Given the description of an element on the screen output the (x, y) to click on. 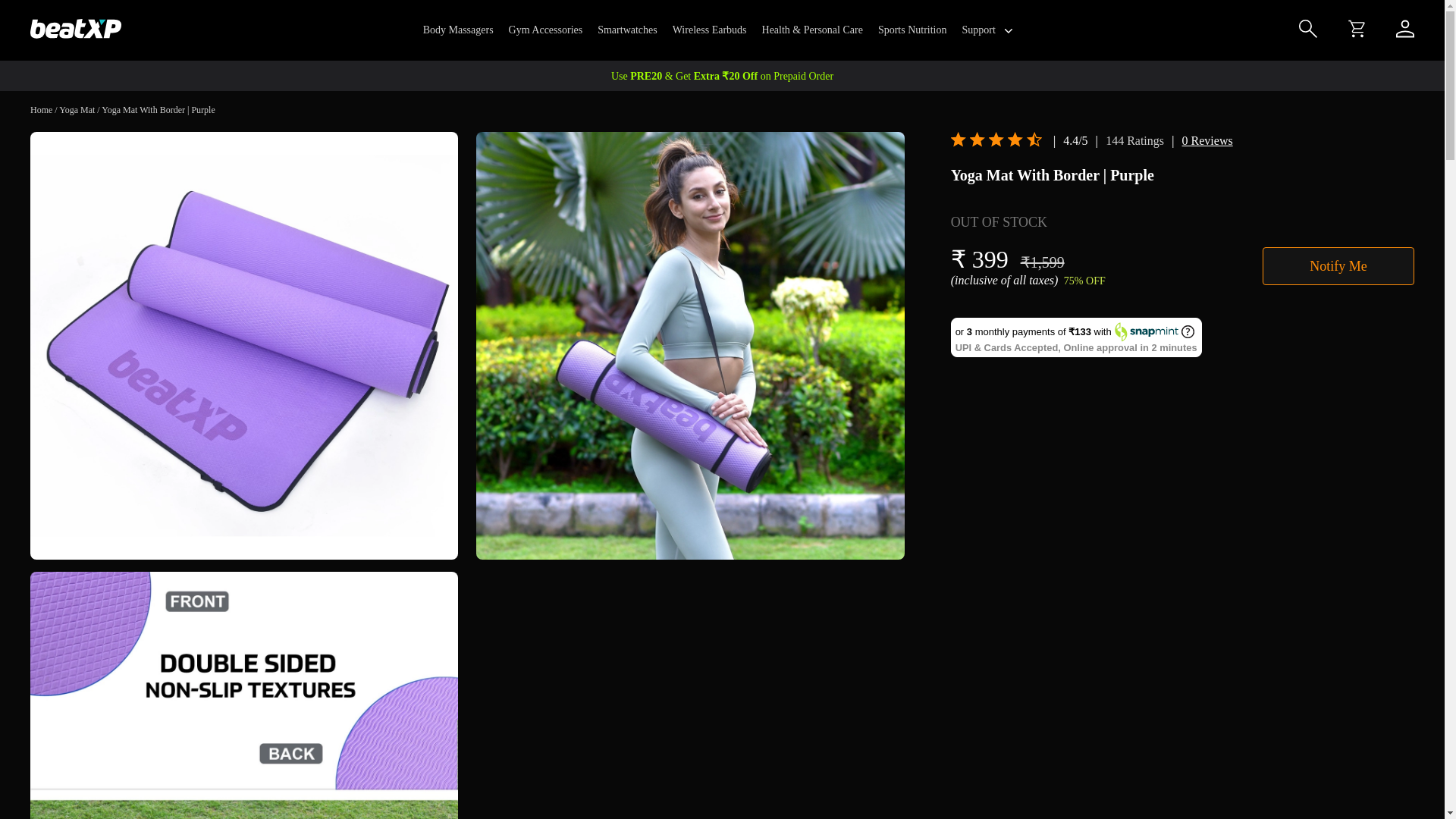
Sports Nutrition (912, 30)
Wireless Earbuds (709, 30)
Yoga Mat (76, 109)
Smartwatches (627, 30)
Gym Accessories (545, 30)
Home (41, 109)
Body Massagers (458, 30)
